Given the description of an element on the screen output the (x, y) to click on. 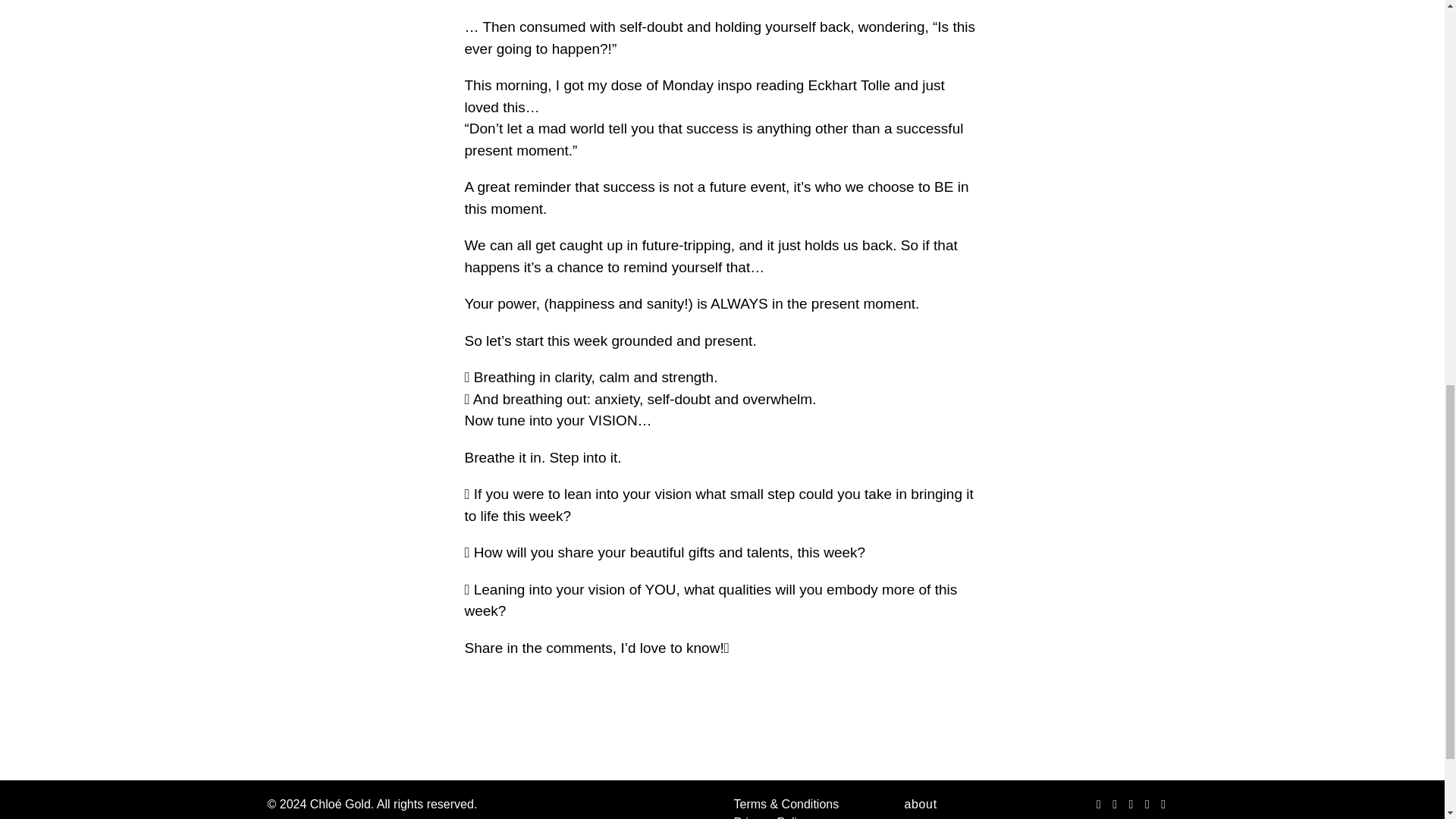
Privacy Policy (771, 817)
programmes (954, 816)
about (954, 805)
